Given the description of an element on the screen output the (x, y) to click on. 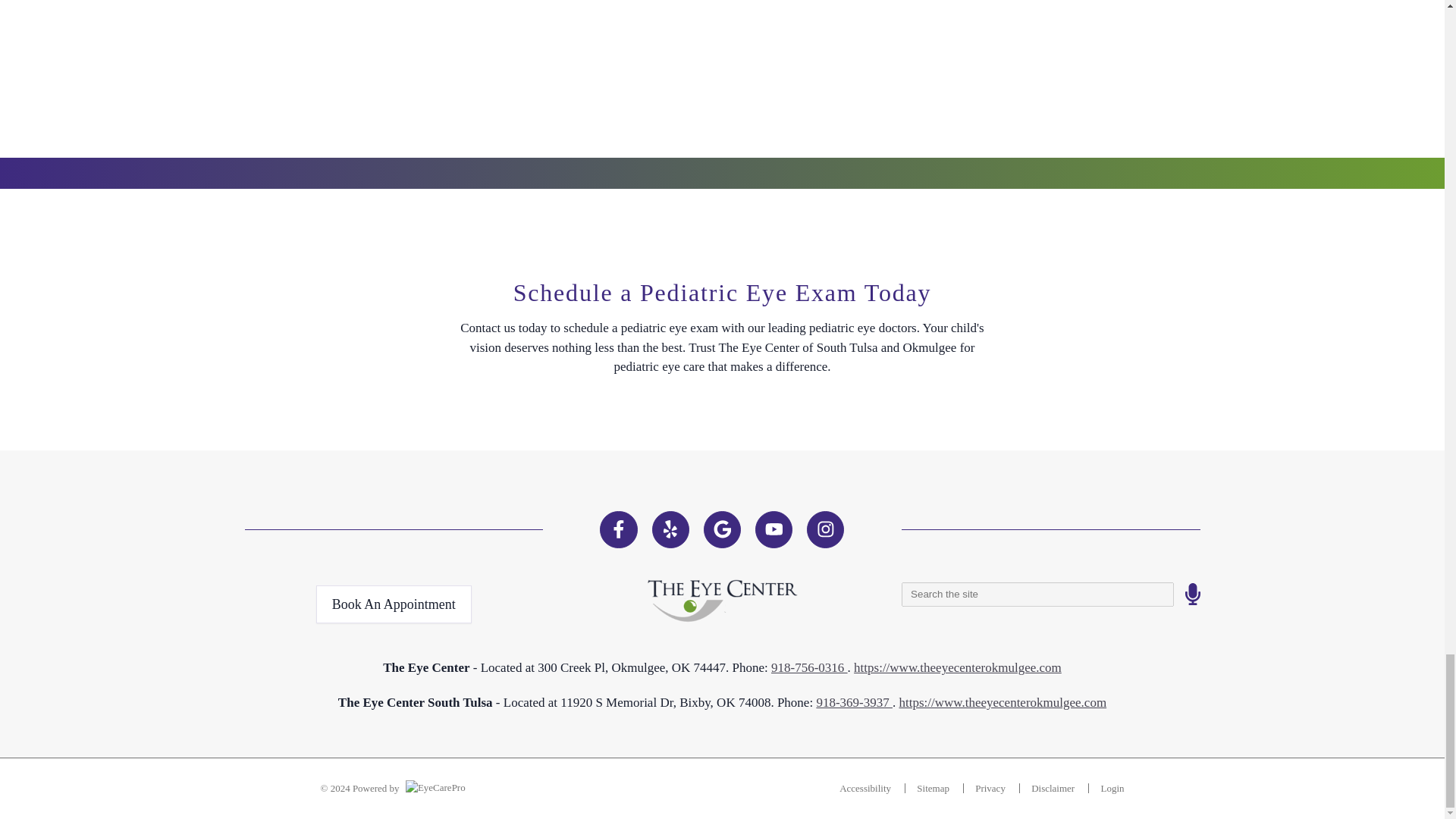
Speak Field (1037, 594)
